Given the description of an element on the screen output the (x, y) to click on. 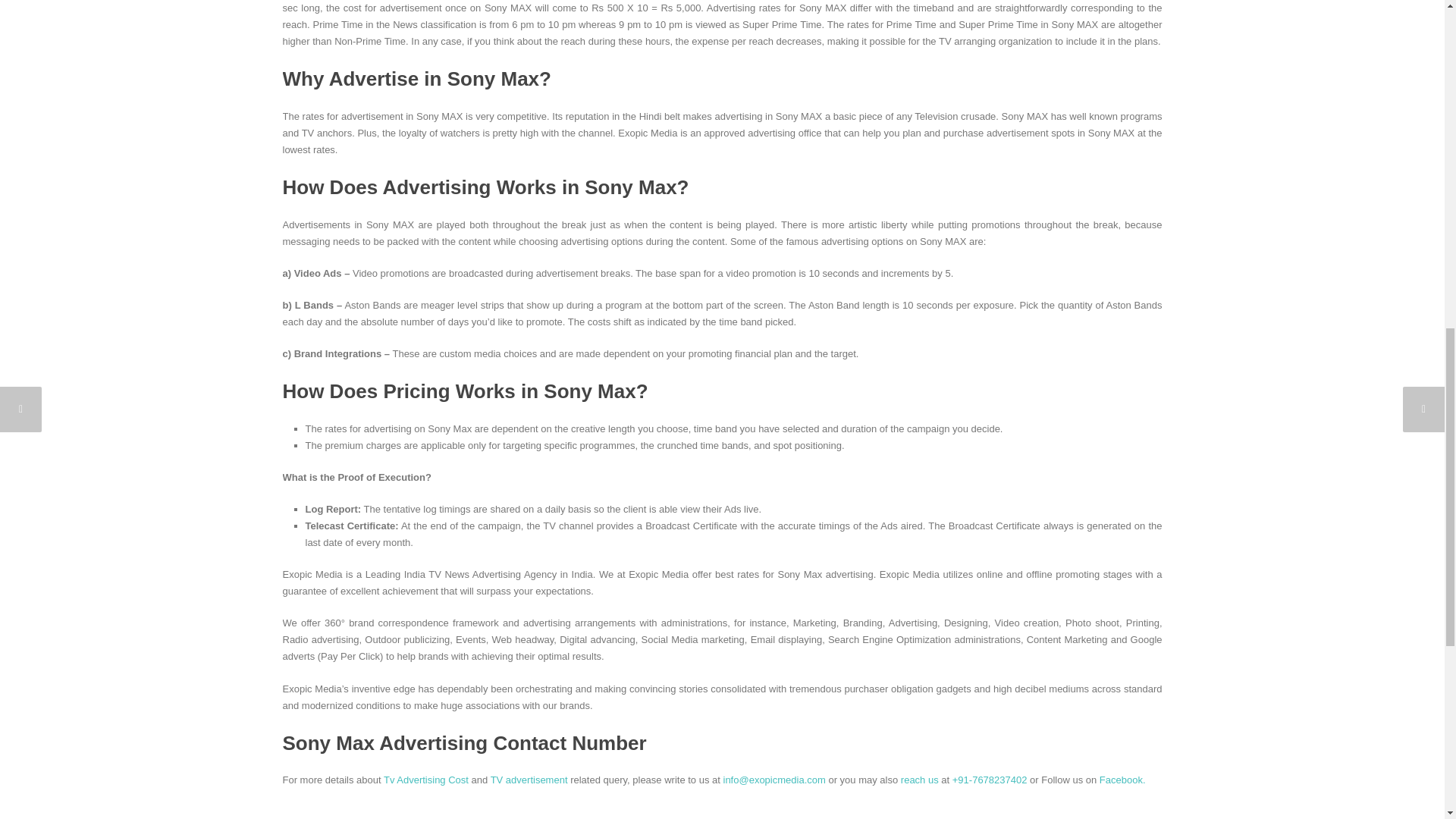
Facebook. (1122, 779)
Tv Advertising Cost (426, 779)
TV advertisement (528, 779)
reach us (920, 779)
